Given the description of an element on the screen output the (x, y) to click on. 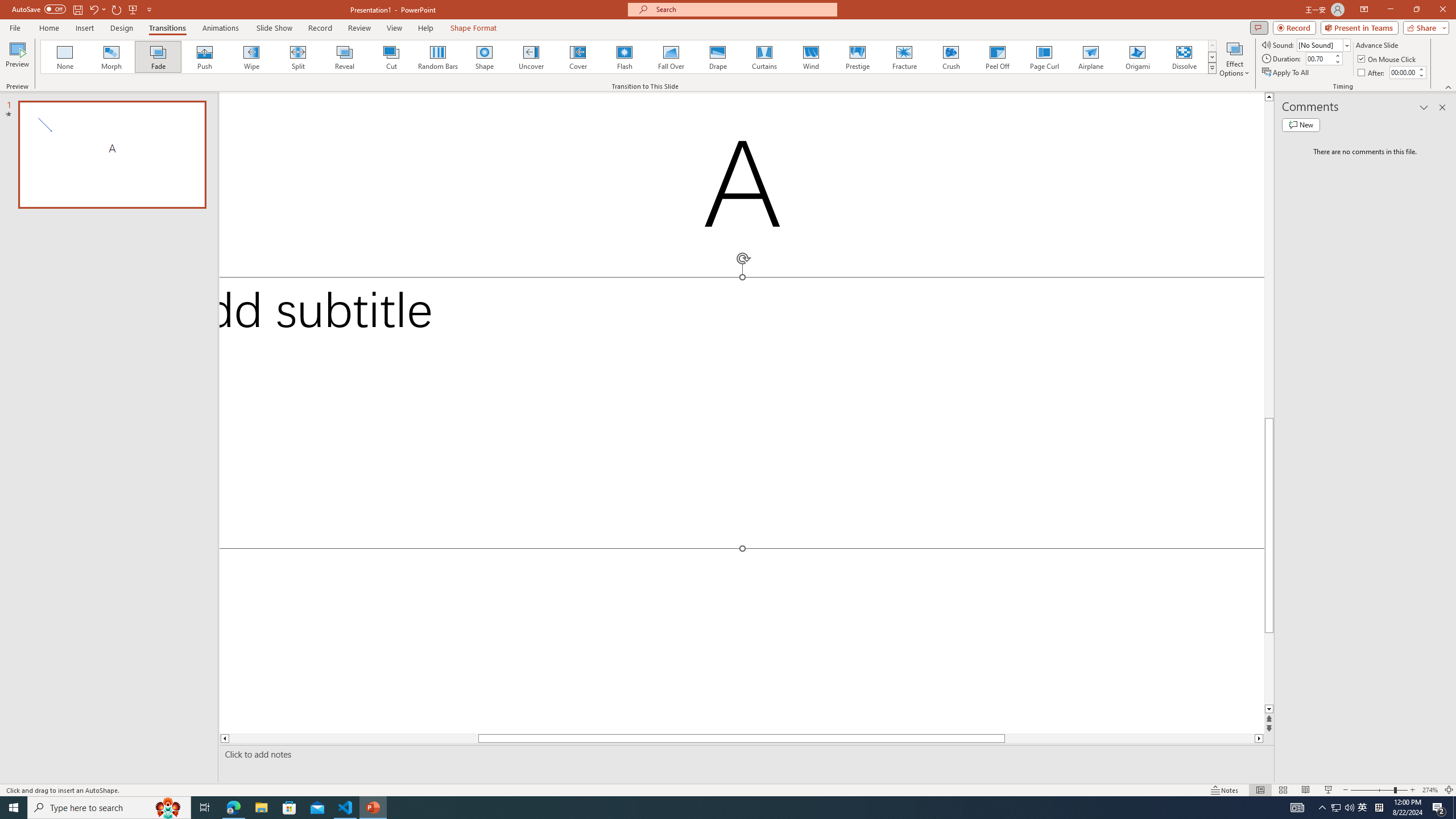
None (65, 56)
Wipe (251, 56)
Reveal (344, 56)
After (1403, 72)
Cover (577, 56)
Peel Off (997, 56)
